Given the description of an element on the screen output the (x, y) to click on. 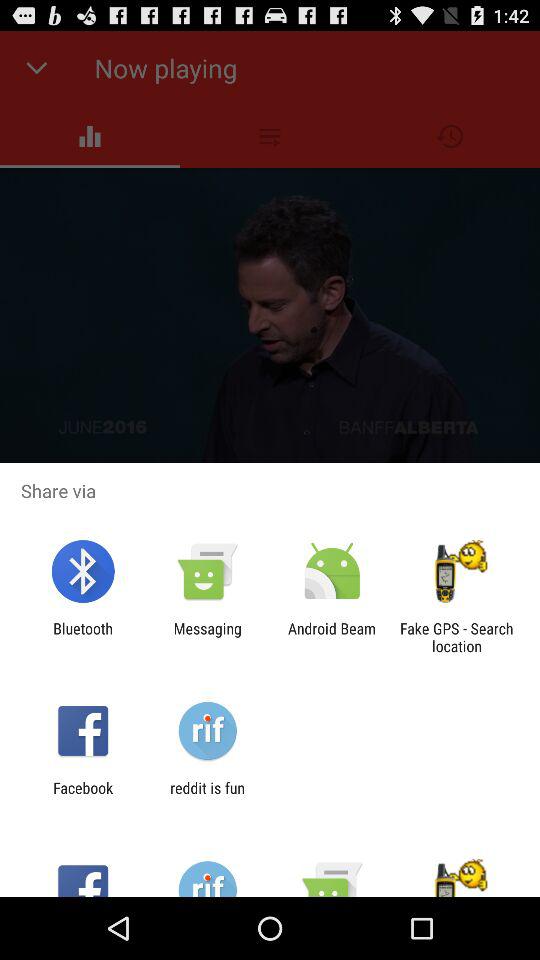
turn off the item next to the android beam icon (207, 637)
